Given the description of an element on the screen output the (x, y) to click on. 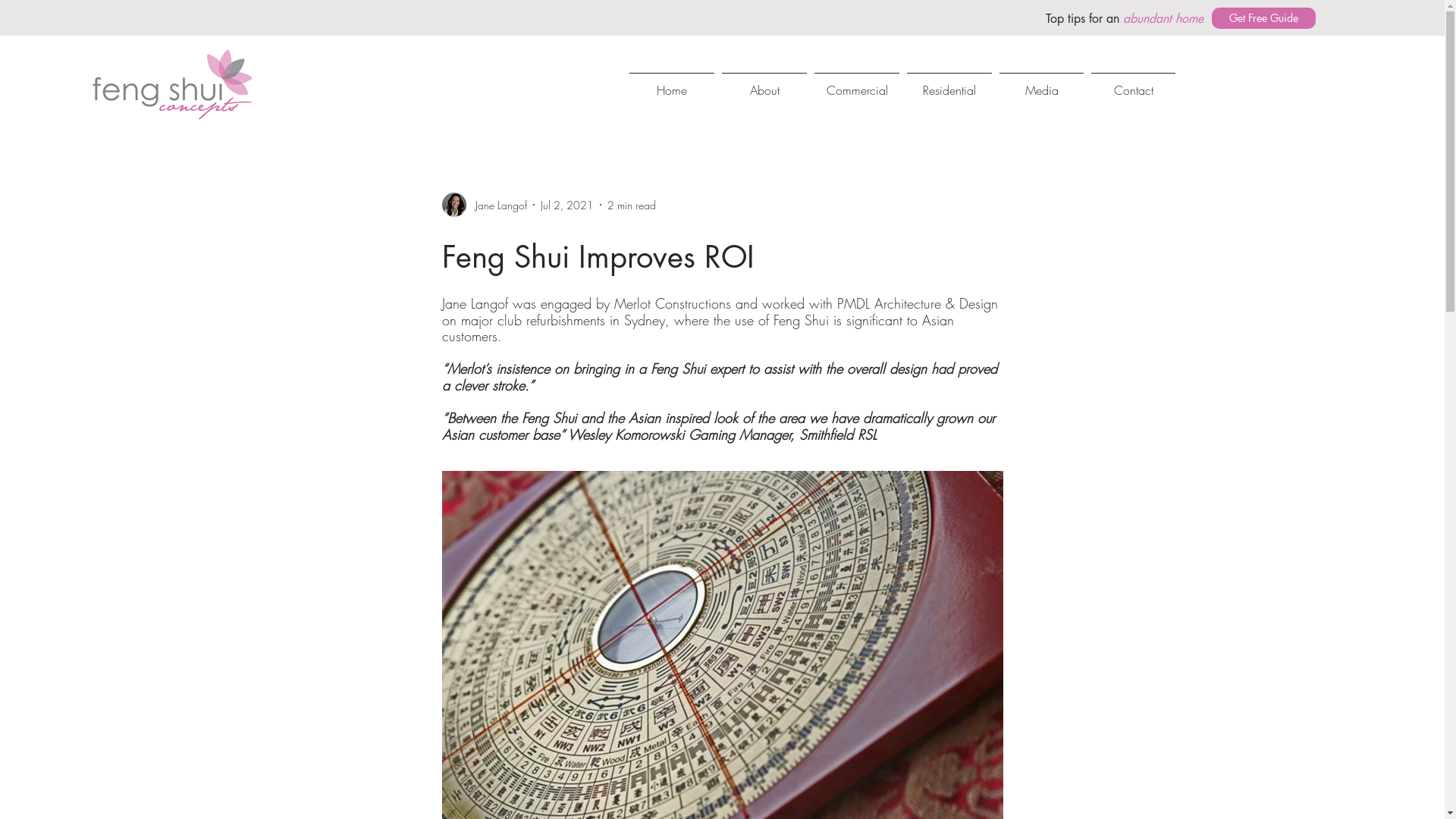
Home Element type: text (671, 83)
Commercial Element type: text (856, 83)
Residential Element type: text (949, 83)
Media Element type: text (1041, 83)
TWIPLA (Visitor Analytics) Element type: hover (1442, 4)
About Element type: text (764, 83)
Contact Element type: text (1133, 83)
Get Free Guide Element type: text (1263, 17)
Logo Files_Color Logo.png Element type: hover (173, 83)
